Given the description of an element on the screen output the (x, y) to click on. 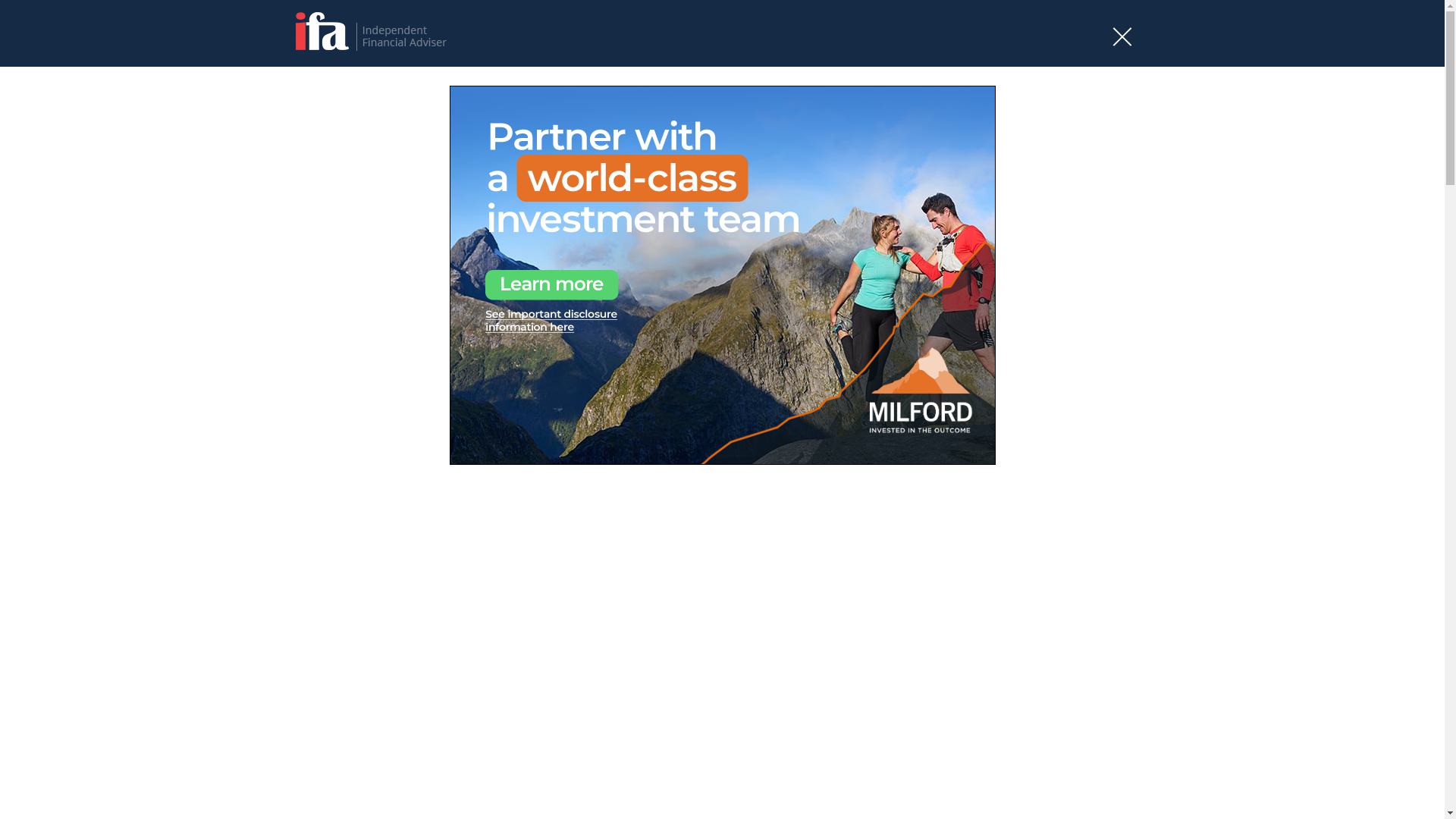
Risk Element type: text (903, 261)
Promoted Content Element type: text (1032, 261)
Podcast Element type: text (861, 261)
Home Element type: text (298, 321)
Subscribe Element type: text (986, 217)
Opinion Element type: text (811, 261)
Strategy Element type: text (761, 261)
Momentum Media Client Element type: hover (145, 542)
News Element type: text (335, 321)
News Element type: text (714, 261)
popup Element type: hover (721, 274)
Powered by MOMENTUM MEDIA Element type: text (354, 217)
Momentum Media Client Element type: hover (1298, 542)
billboard Element type: hover (722, 102)
Webcasts Element type: text (1108, 261)
NEWS Element type: text (305, 483)
Magazines Element type: text (951, 261)
